Given the description of an element on the screen output the (x, y) to click on. 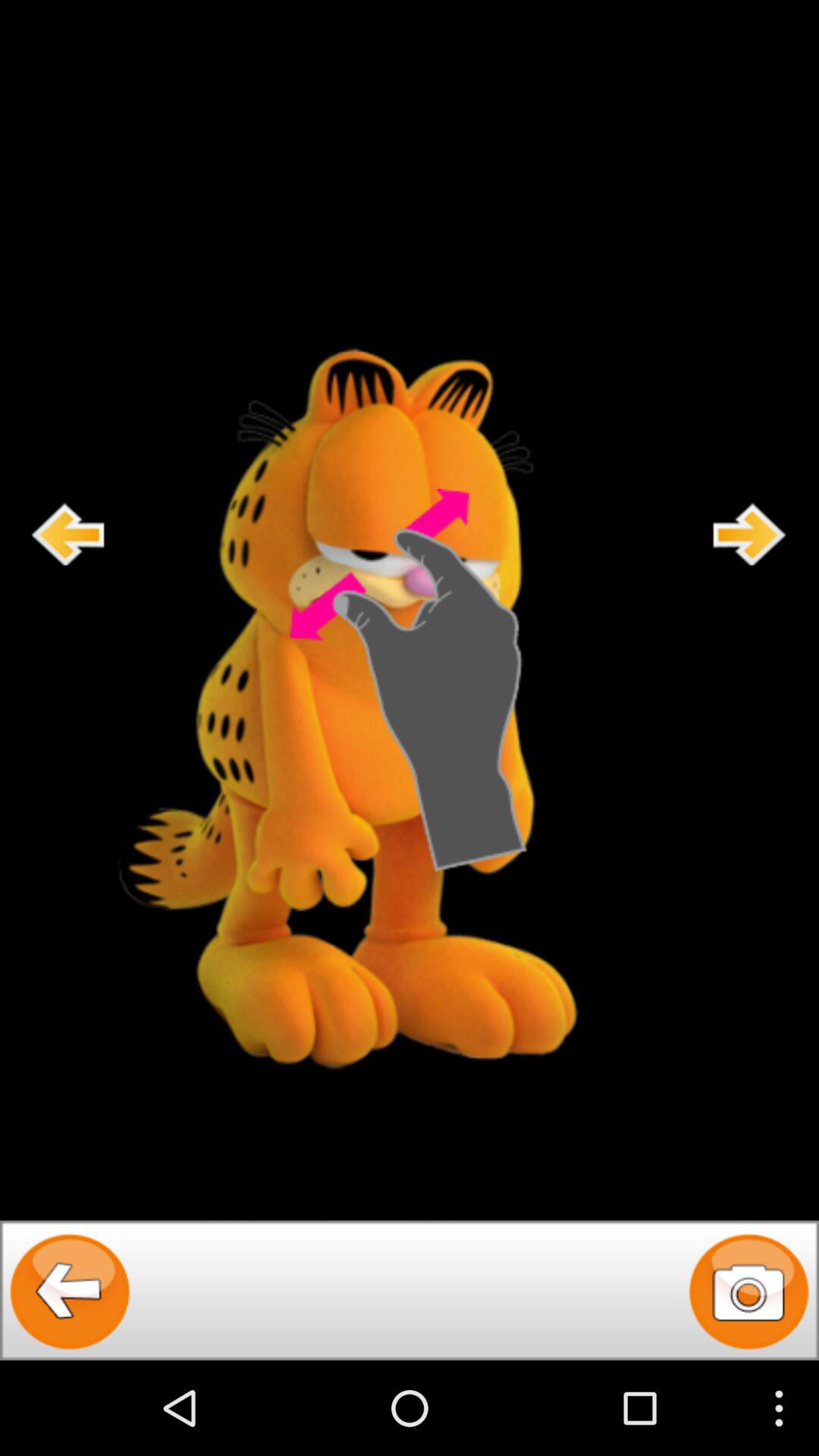
go to camara (748, 1290)
